Given the description of an element on the screen output the (x, y) to click on. 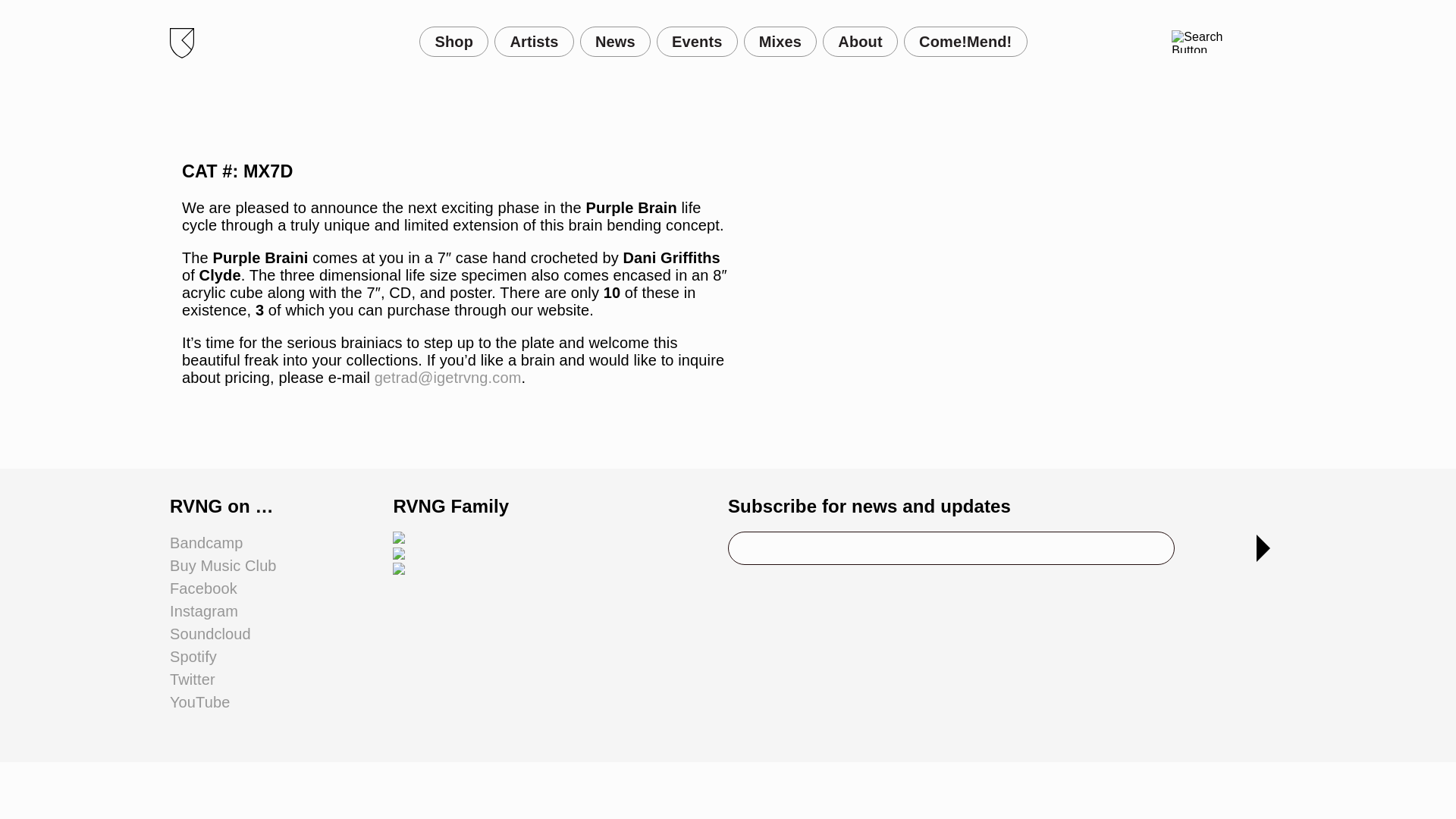
Shop (453, 41)
Mixes (780, 41)
Come!Mend! (965, 41)
Buy Music Club (223, 565)
Artists (534, 41)
Bandcamp (206, 542)
Events (697, 41)
News (614, 41)
About (860, 41)
